Given the description of an element on the screen output the (x, y) to click on. 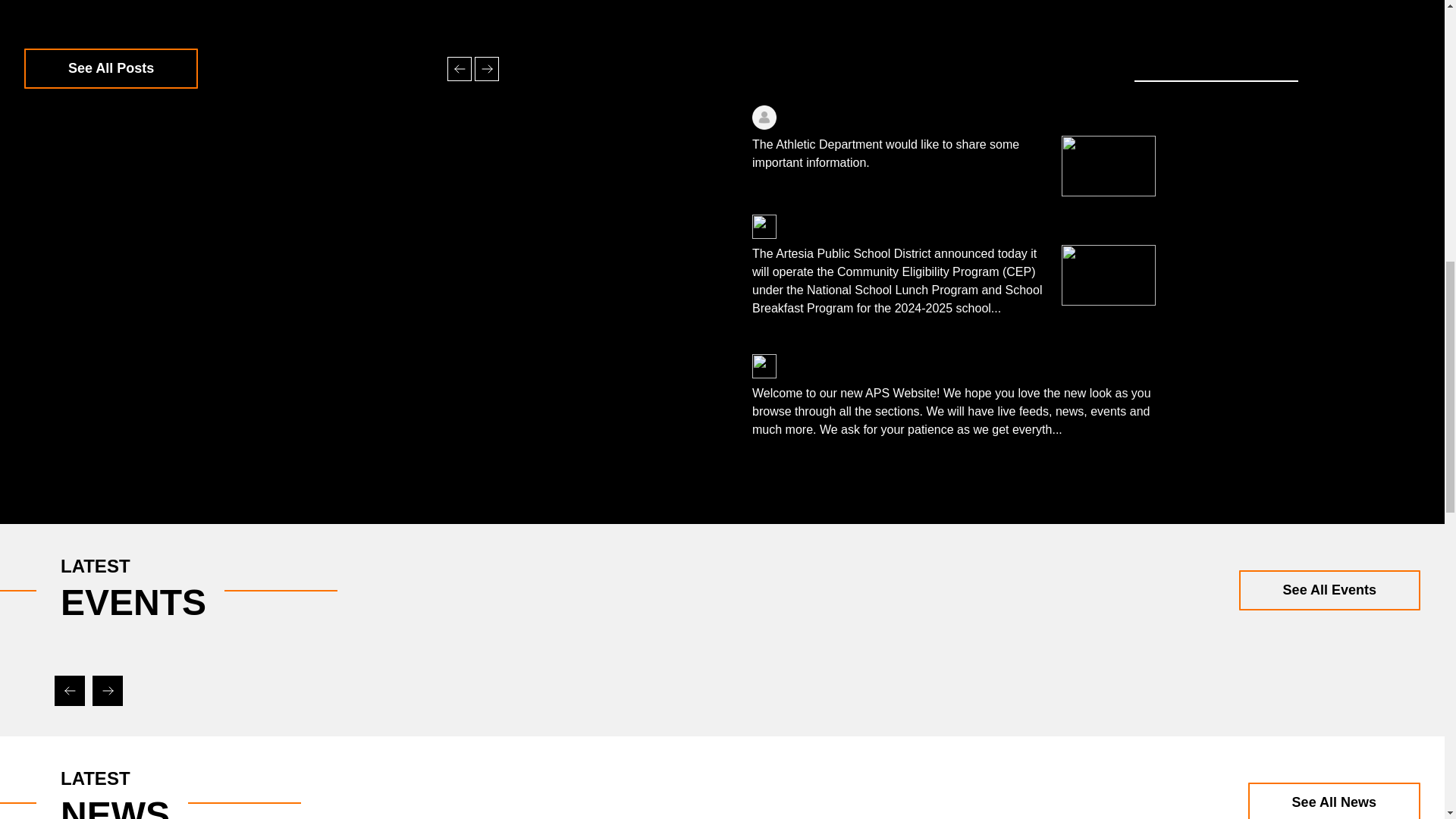
Read More (1095, 429)
See All News (1334, 800)
See All Posts (111, 68)
Read More (892, 317)
See All Events (1330, 590)
